Given the description of an element on the screen output the (x, y) to click on. 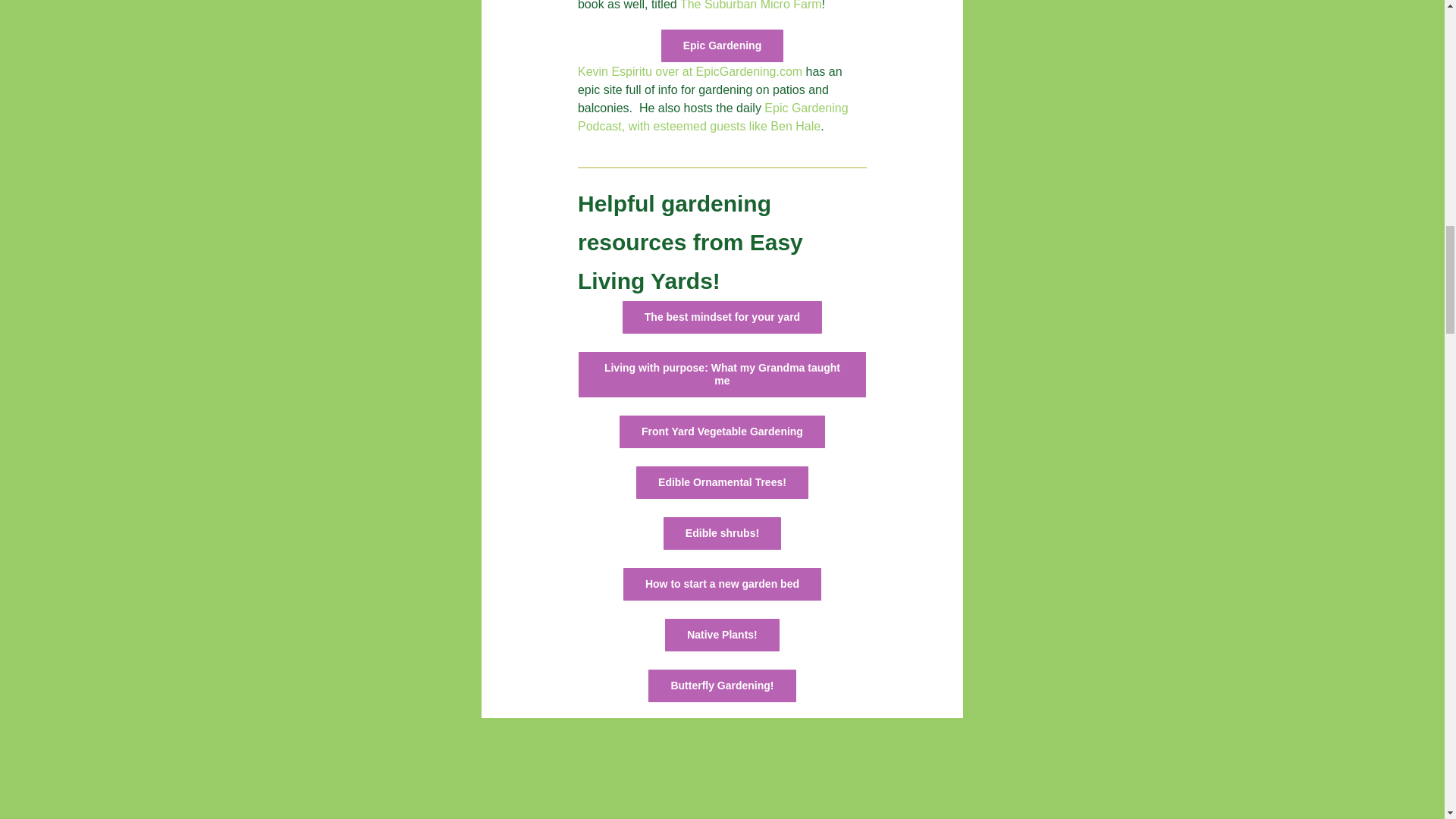
Edible shrubs! (721, 533)
Front Yard Vegetable Gardening (721, 431)
Epic Gardening (722, 45)
Native Plants! (721, 634)
Edible Ornamental Trees! (721, 482)
Kevin Espiritu over at EpicGardening.com (690, 71)
How to start a new garden bed (722, 584)
The best mindset for your yard (721, 317)
Butterfly Gardening! (721, 685)
Living with purpose: What my Grandma taught me (722, 374)
